Given the description of an element on the screen output the (x, y) to click on. 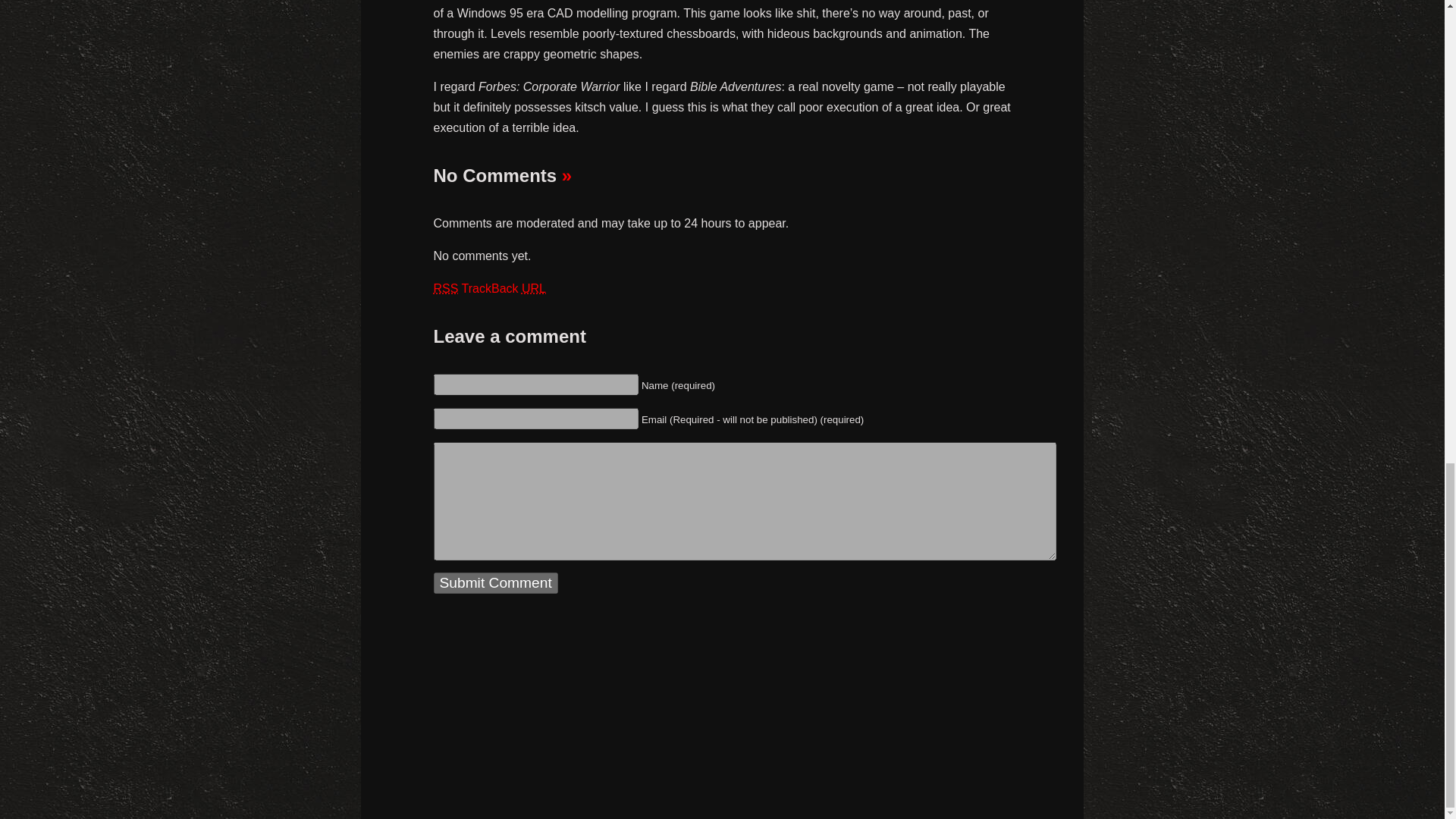
Universal Resource Locator (533, 287)
Submit Comment (495, 582)
Really Simple Syndication (445, 287)
RSS (445, 287)
Submit Comment (495, 582)
TrackBack URL (503, 287)
